Given the description of an element on the screen output the (x, y) to click on. 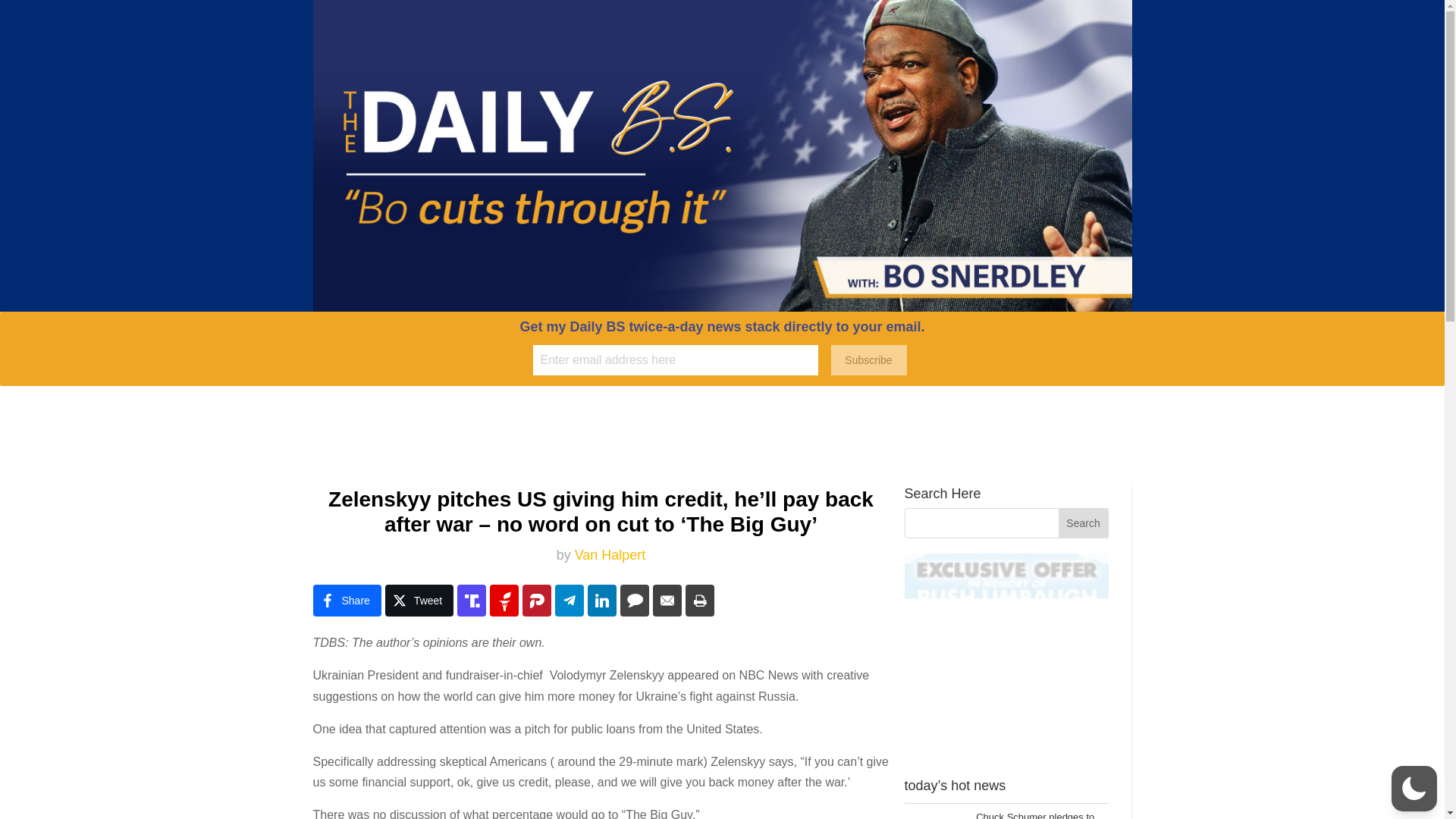
Subscribe (869, 359)
Search (1083, 522)
Share on Tweet (418, 600)
Share (346, 600)
Search (1083, 522)
Share on Truth (471, 600)
Van Halpert (610, 554)
Share on Parler (536, 600)
Share on Telegram (568, 600)
